Given the description of an element on the screen output the (x, y) to click on. 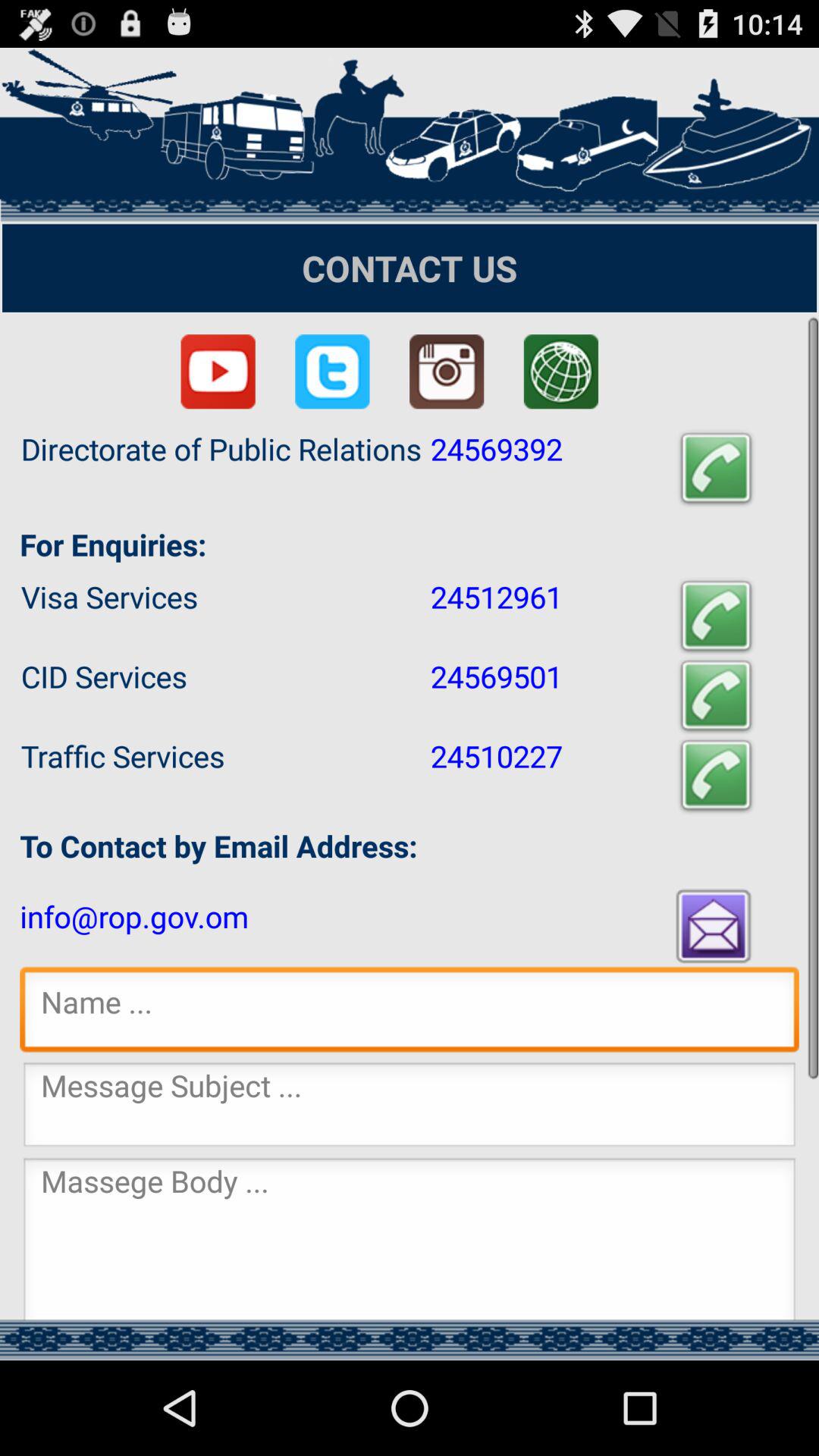
enter message text (409, 1238)
